Given the description of an element on the screen output the (x, y) to click on. 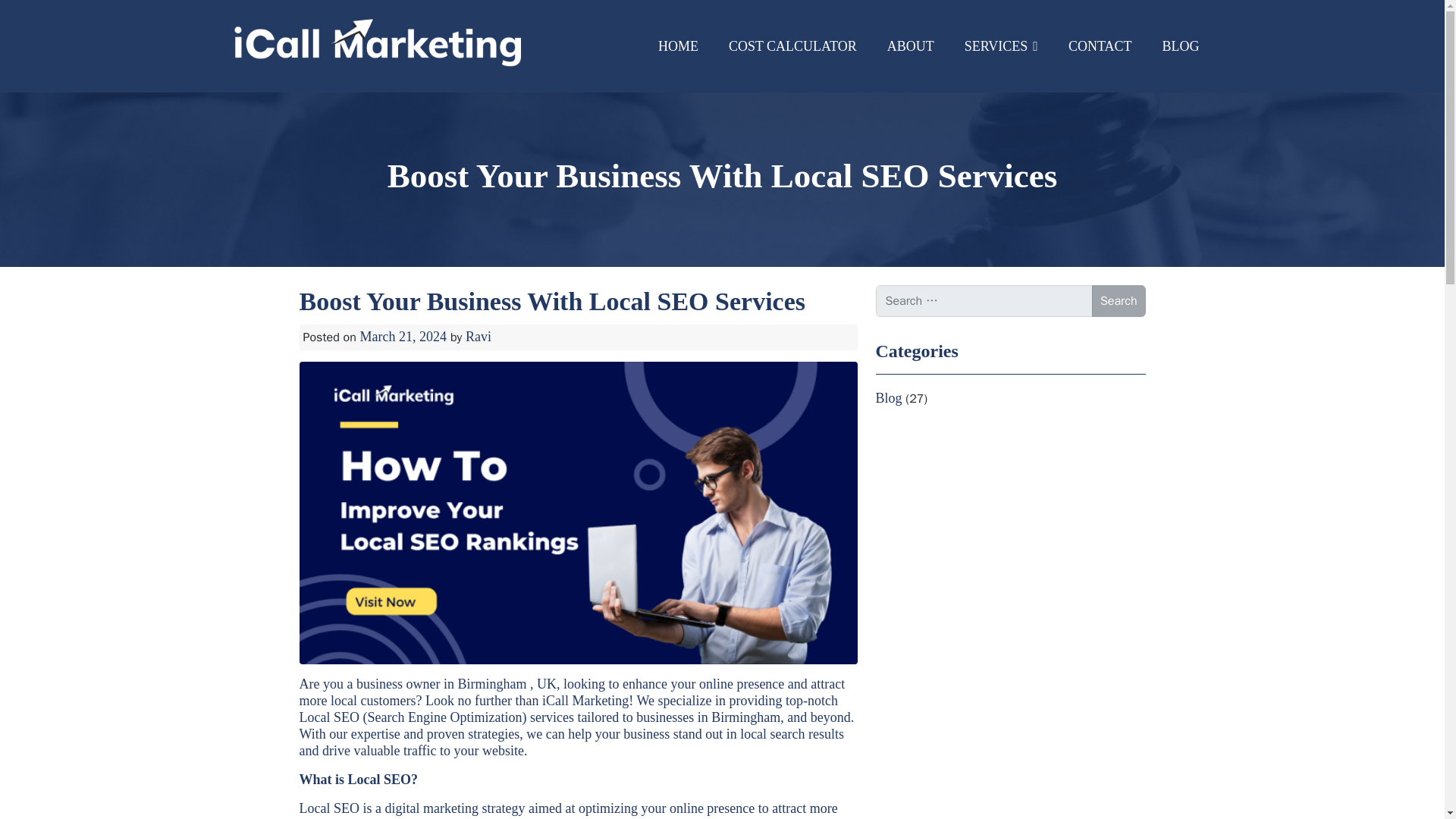
CONTACT (1099, 45)
COST CALCULATOR (792, 45)
BLOG (1180, 45)
ABOUT (910, 45)
Search (1118, 300)
HOME (678, 45)
Home (678, 45)
Blog (1180, 45)
Ravi (478, 336)
About (910, 45)
Services (1000, 45)
Blog (889, 397)
Search (1118, 300)
Contact (1099, 45)
March 21, 2024 (402, 336)
